Given the description of an element on the screen output the (x, y) to click on. 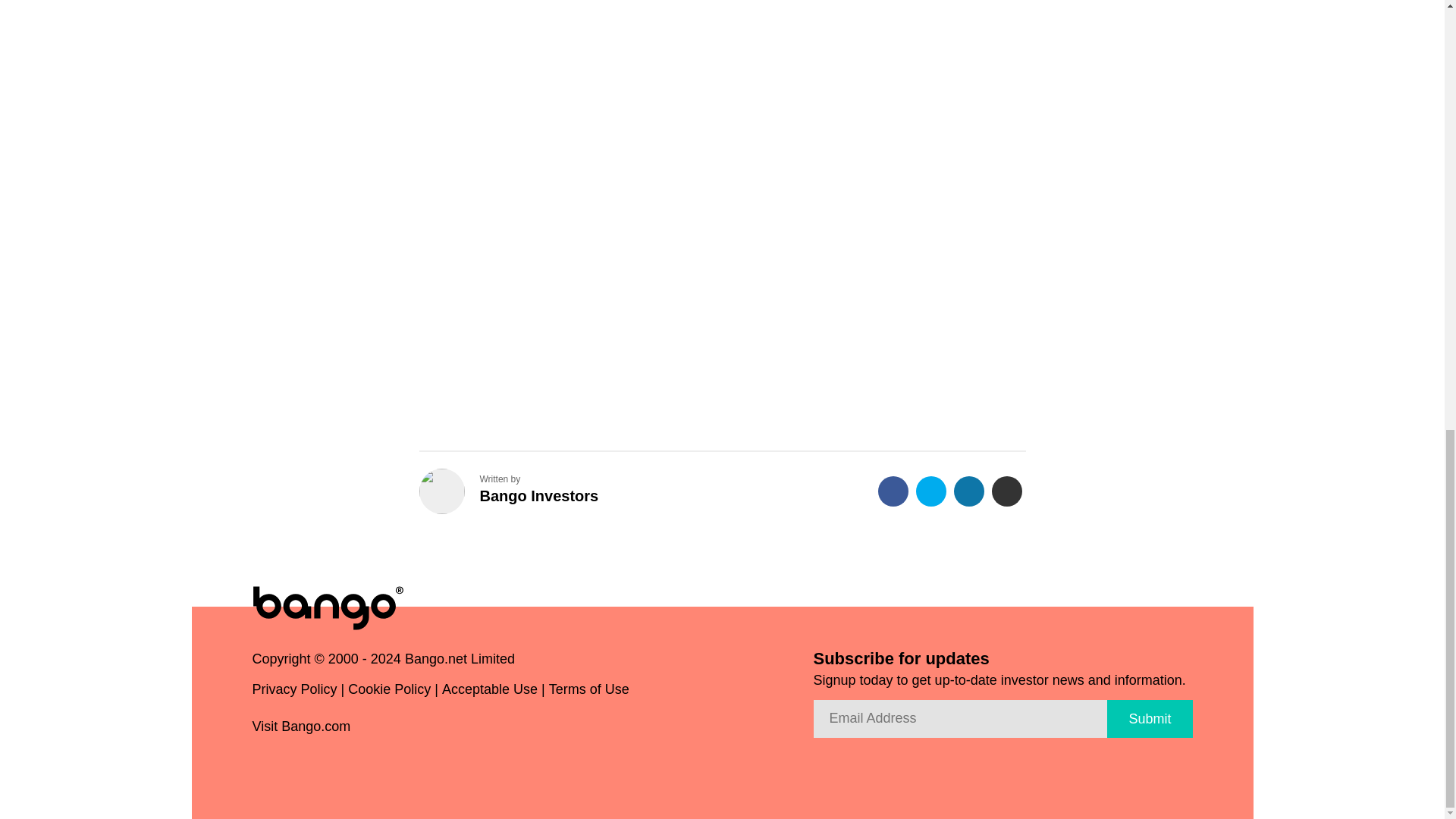
Acceptable Use (489, 692)
Privacy Policy (293, 692)
Visit Bango.com (306, 728)
Cookie Policy (388, 692)
Terms of Use (588, 692)
